Given the description of an element on the screen output the (x, y) to click on. 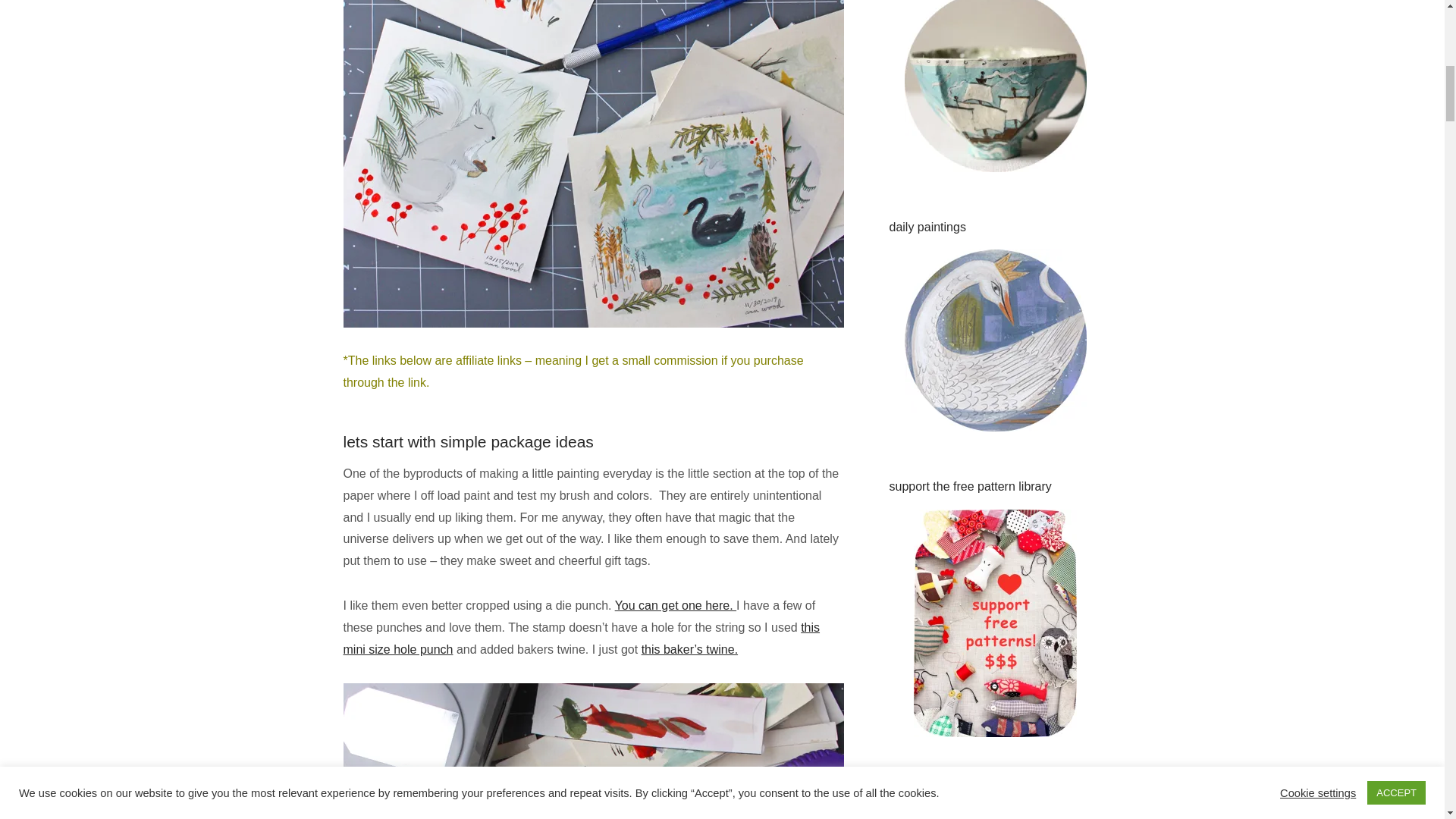
You can get one here. (675, 604)
this mini size hole punch (580, 638)
